Given the description of an element on the screen output the (x, y) to click on. 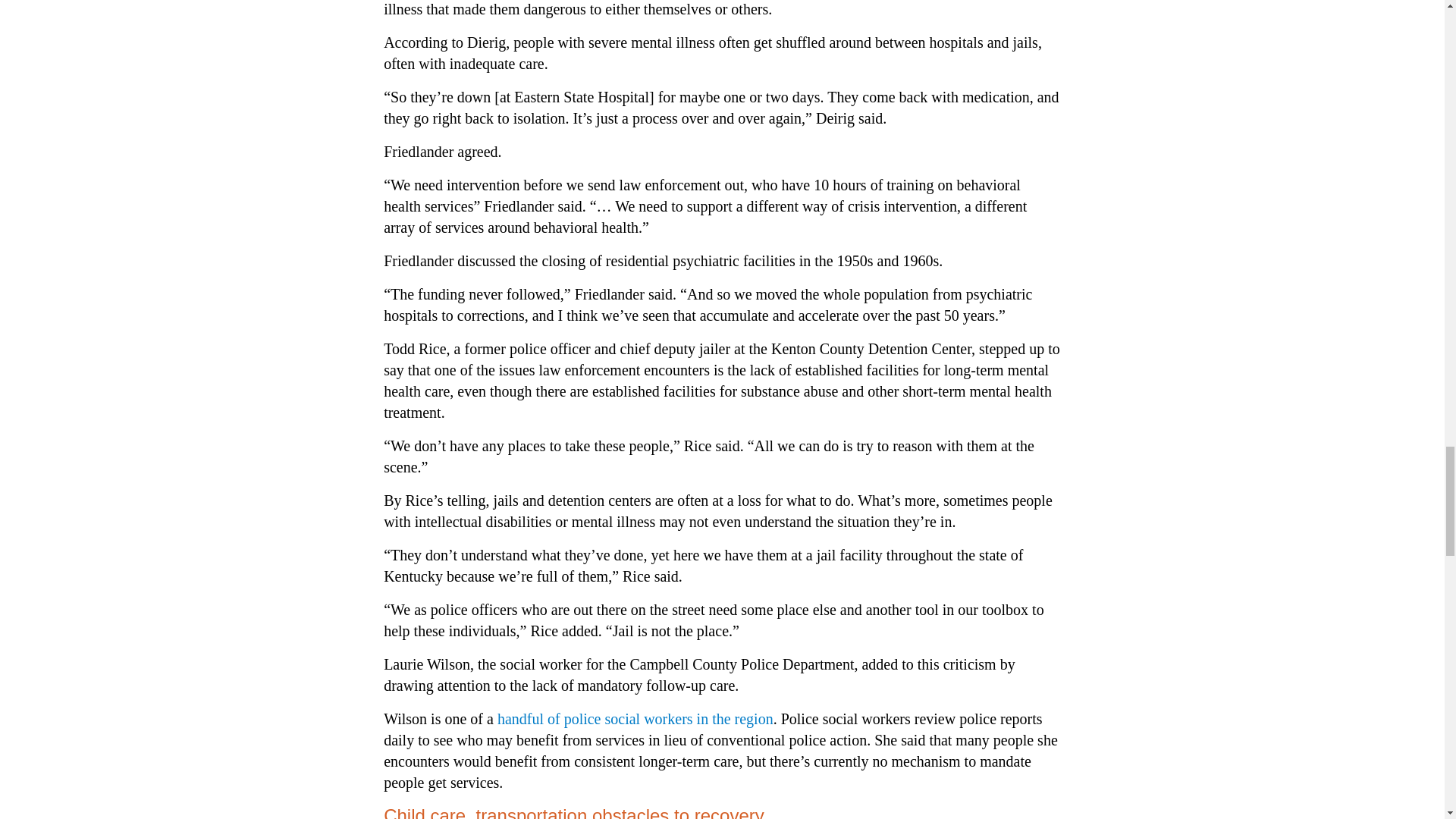
handful of police social workers in the region (635, 718)
